Given the description of an element on the screen output the (x, y) to click on. 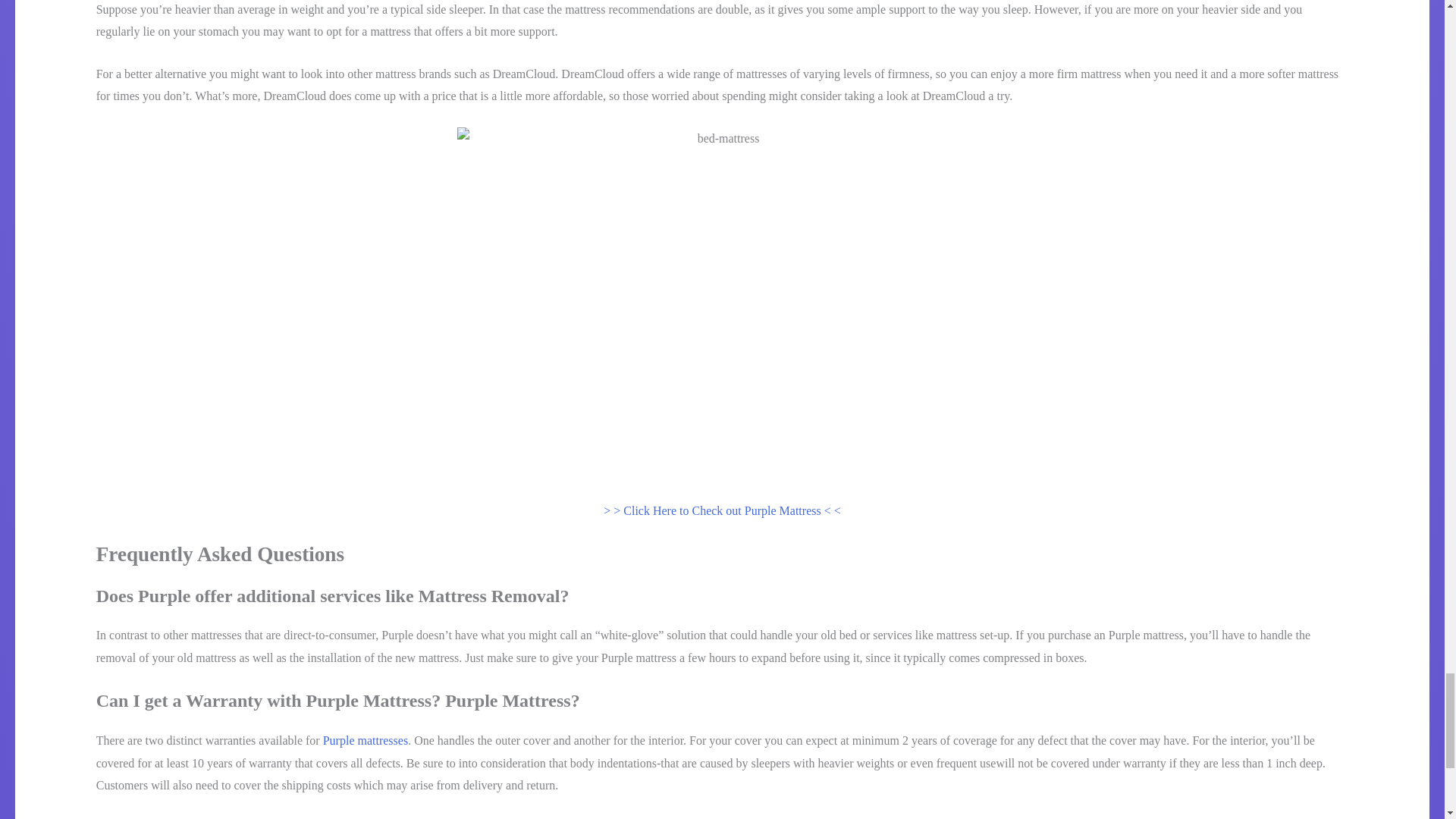
Purple mattresses (365, 739)
